Given the description of an element on the screen output the (x, y) to click on. 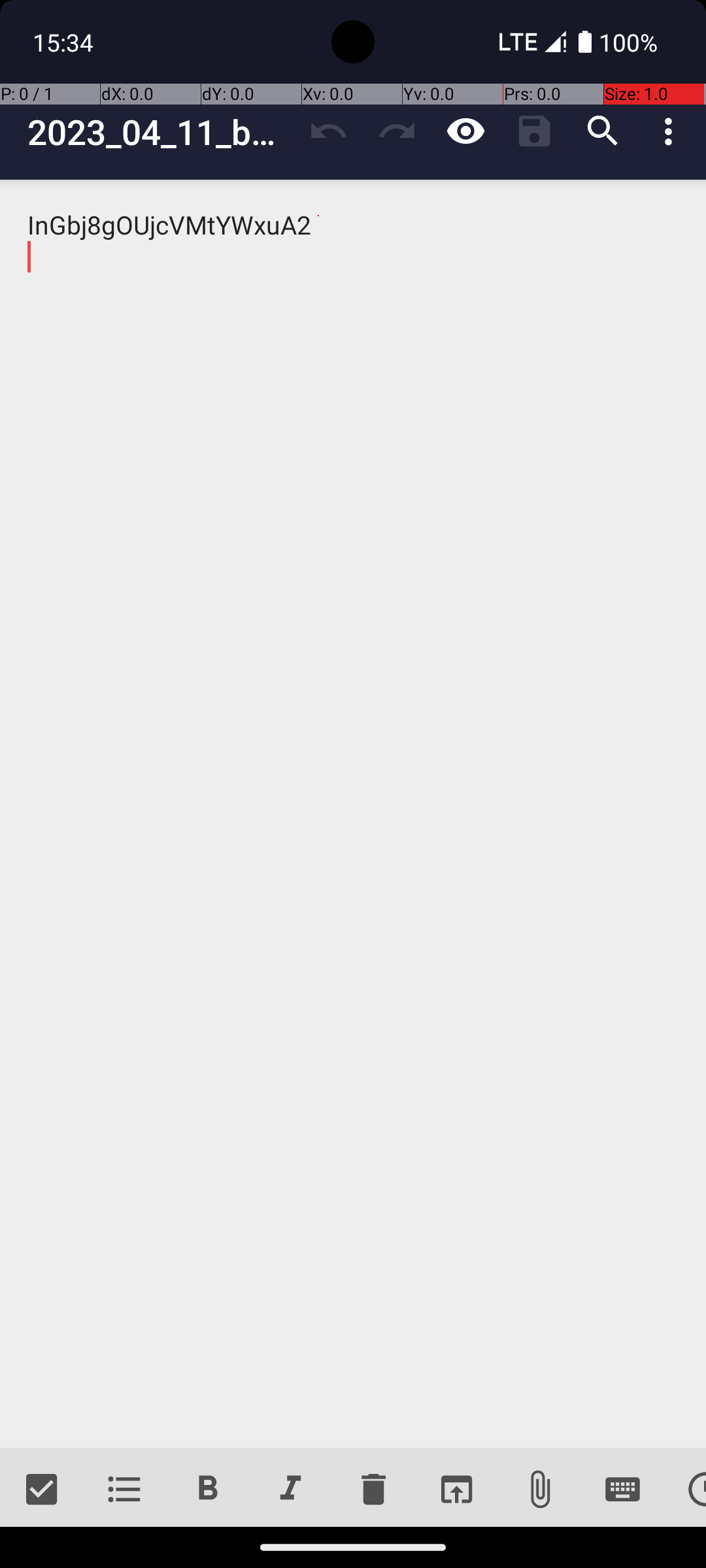
2023_04_11_budget_home_renovation Element type: android.widget.TextView (160, 131)
InGbj8gOUjcVMtYWxuA2
 Element type: android.widget.EditText (353, 813)
